Given the description of an element on the screen output the (x, y) to click on. 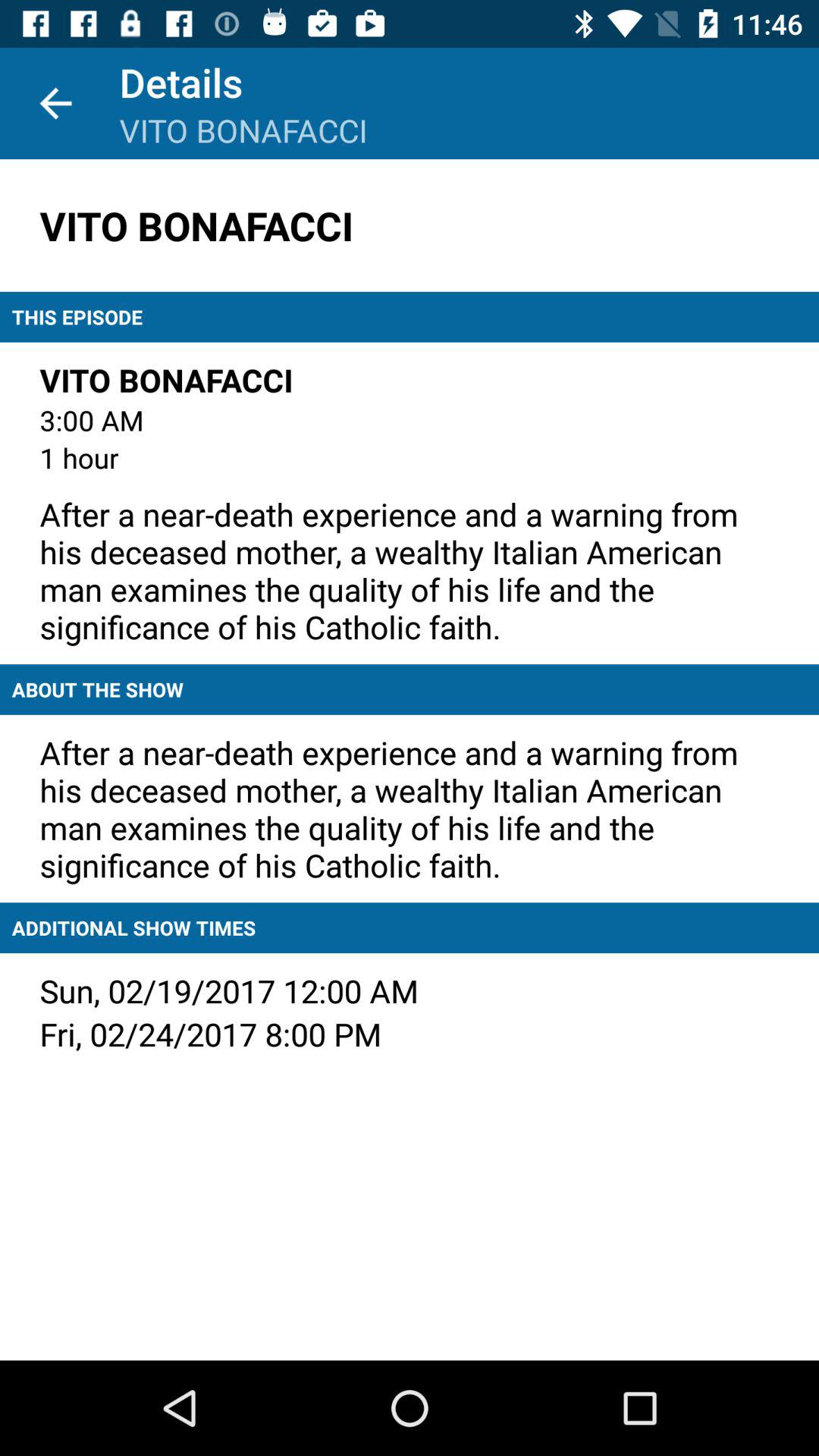
turn off item next to details icon (55, 103)
